Given the description of an element on the screen output the (x, y) to click on. 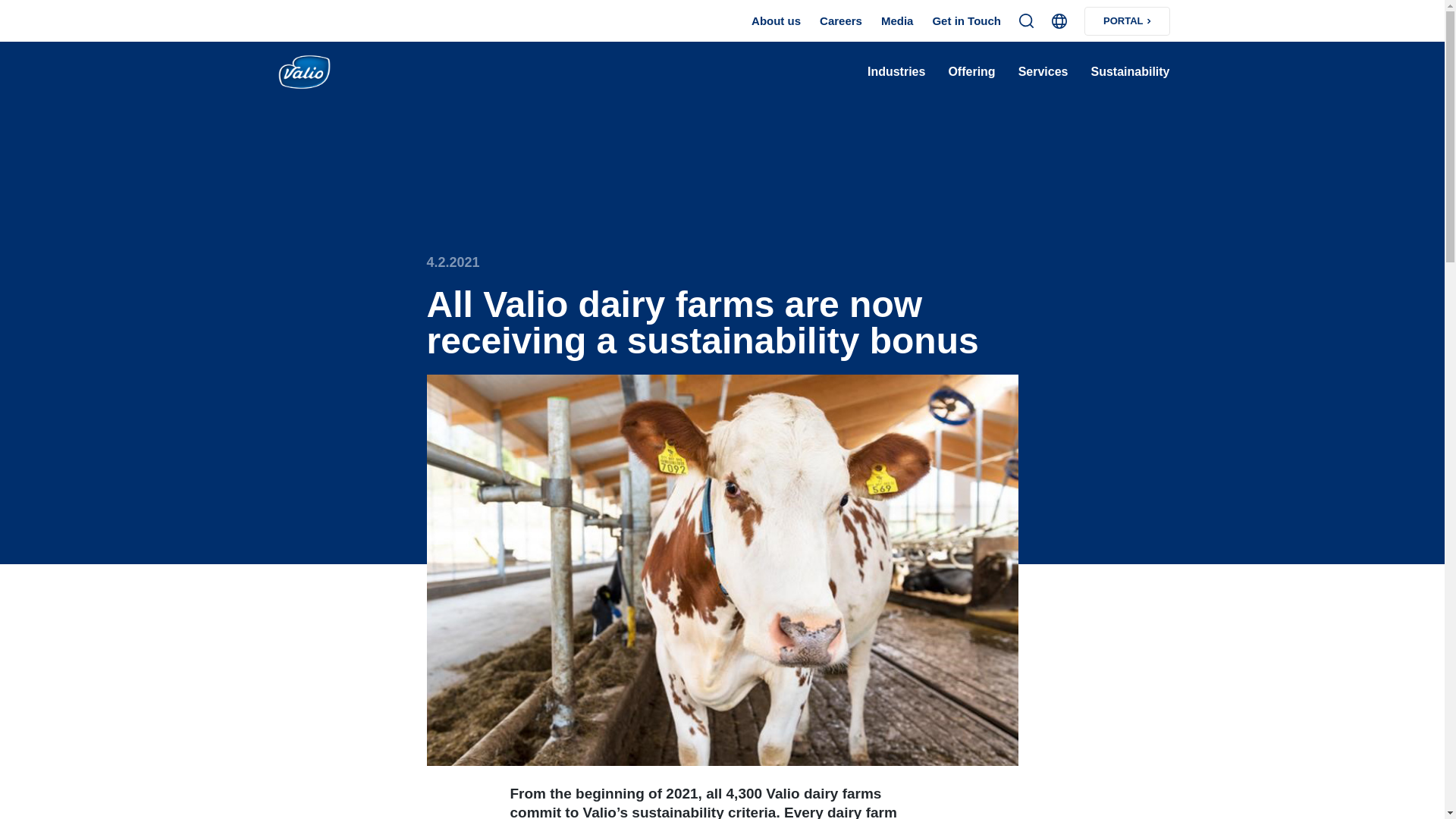
valio.com (334, 72)
PORTAL (1126, 20)
Careers (840, 20)
Global (1059, 20)
Sustainability (1129, 71)
Industries (895, 71)
About us (775, 20)
Get in Touch (966, 20)
